Given the description of an element on the screen output the (x, y) to click on. 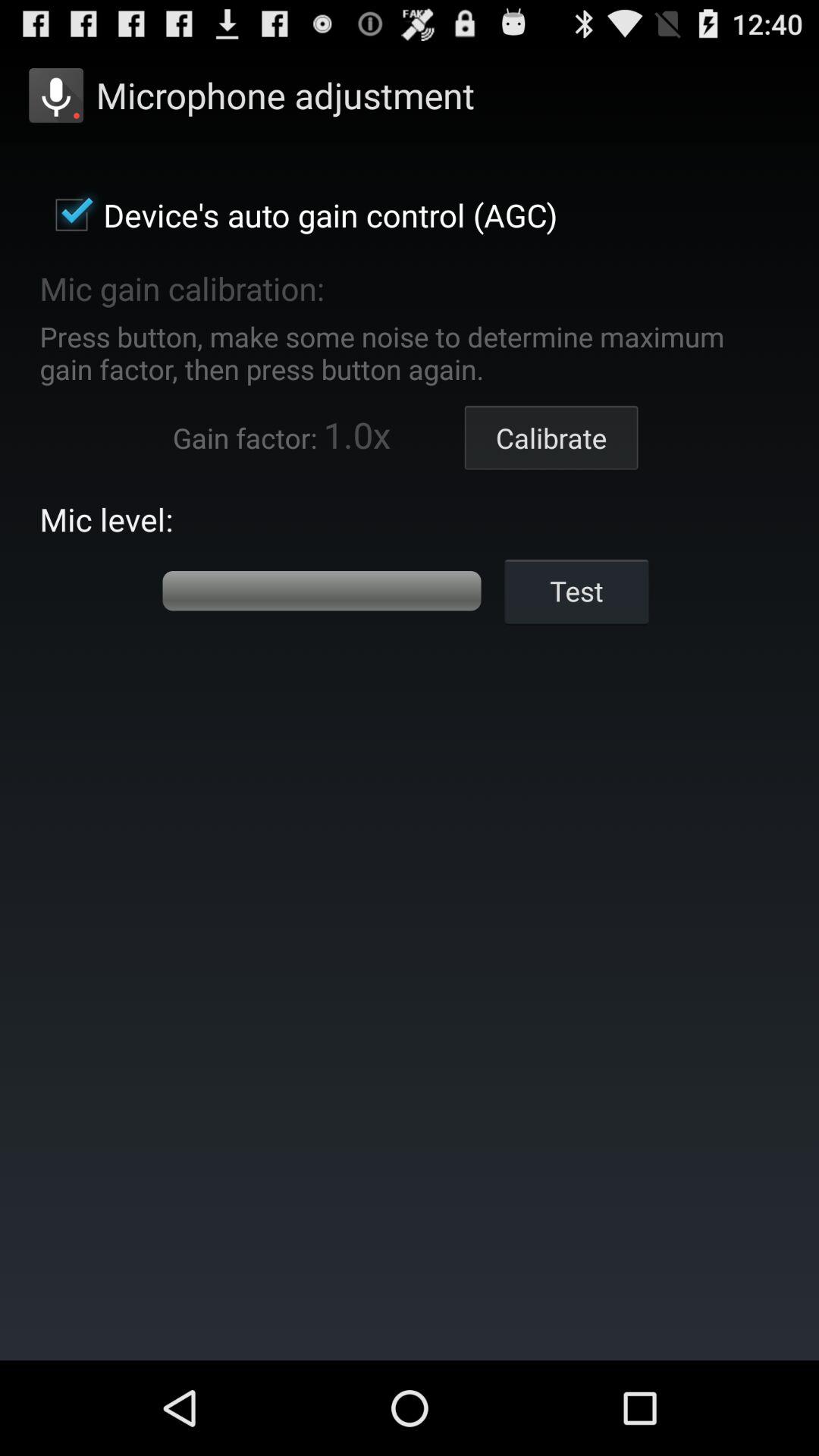
jump to the device s auto checkbox (298, 214)
